Given the description of an element on the screen output the (x, y) to click on. 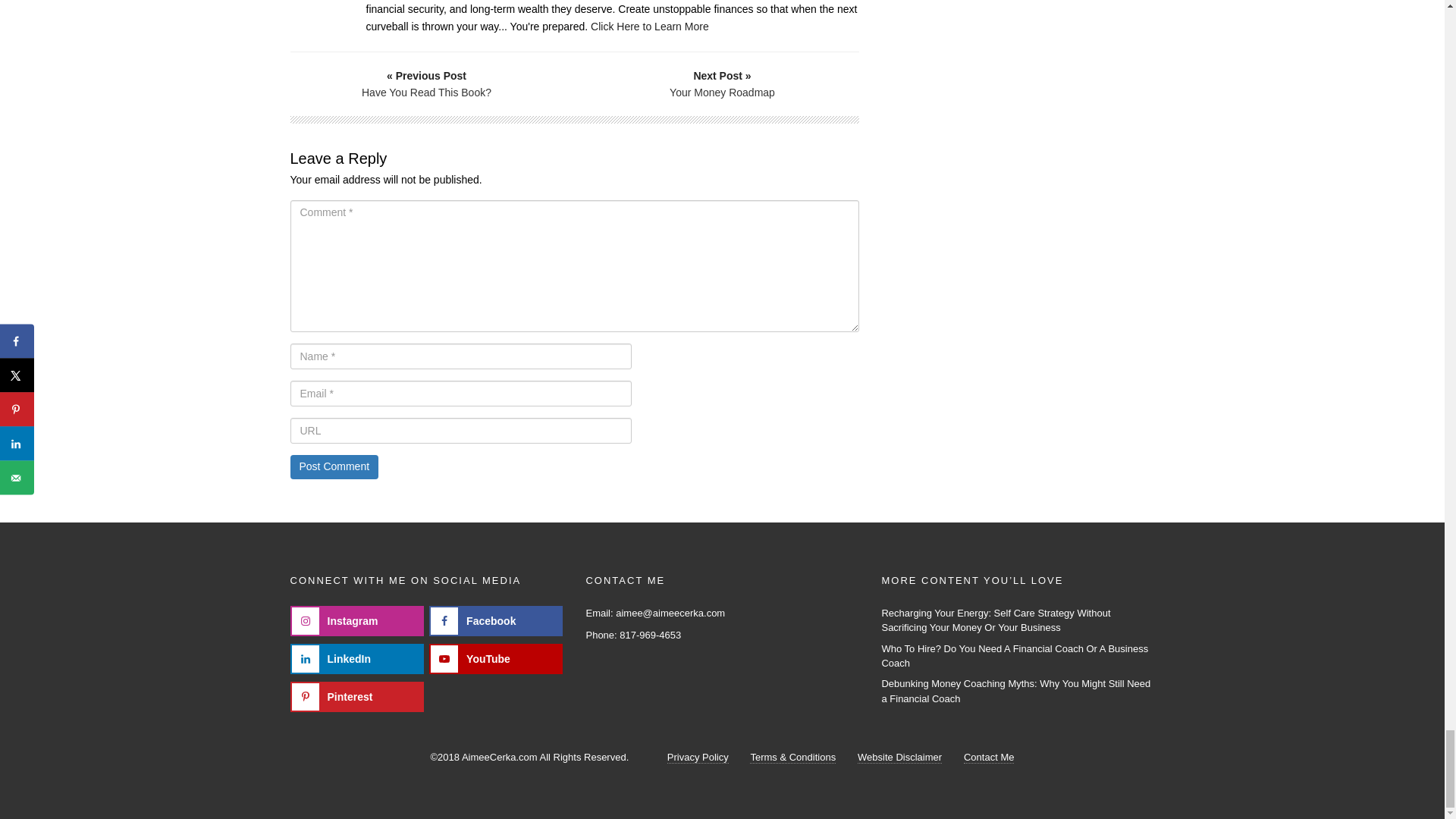
Post Comment (333, 467)
